Given the description of an element on the screen output the (x, y) to click on. 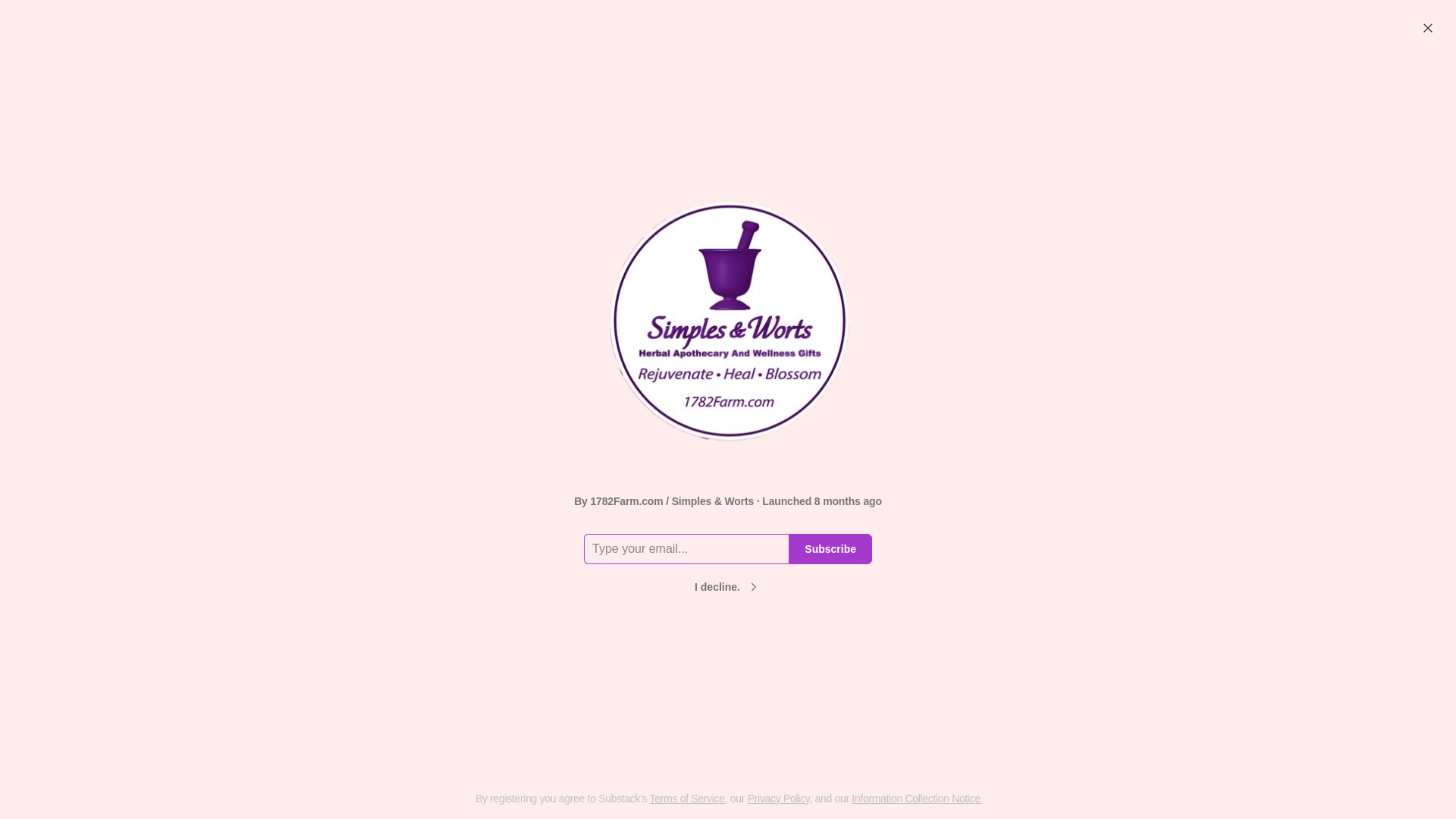
Information Collection Notice Element type: text (915, 798)
1782FARM.COM / SIMPLES & WORTS Element type: text (1115, 349)
Track #3 Element type: text (634, 73)
Subscribe Element type: text (1327, 27)
What Other Side Topics Would You Like to Learn About? Element type: text (353, 306)
Getting a Look at a Working Herb Farm Element type: text (1090, 293)
Sign in Element type: text (1410, 27)
1782FARM.COM / SIMPLES & WORTS Element type: text (378, 621)
1782FARM.COM / SIMPLES & WORTS Element type: text (1057, 752)
About Element type: text (1084, 73)
Track #1 Element type: text (518, 73)
Episode #1 About Our Channel Element type: text (1090, 575)
1782FARM.COM / SIMPLES & WORTS Element type: text (311, 752)
Farm Topic Poll Element type: text (353, 575)
VIEW ALL Element type: text (1188, 694)
Leaderboard Element type: text (1022, 73)
Farm Topic Poll Element type: text (817, 724)
Join Our Chat Element type: text (1066, 724)
Subscribe Element type: text (830, 548)
Track #2 Element type: text (576, 73)
Home Element type: text (371, 73)
Privacy Policy Element type: text (778, 798)
Getting a Look at a Working Herb Farm Element type: text (569, 732)
I decline. Element type: text (727, 583)
1782FARM.COM / SIMPLES & WORTS Element type: text (561, 767)
Listen now (15 mins) | Meet Phil Wilson Element type: text (1090, 600)
Terms of Service Element type: text (686, 798)
I decline. Element type: text (727, 586)
How to Scratch Your Herbal Lifestyle Itch! Element type: text (721, 535)
The Global Sherpa Network Element type: text (910, 73)
Living an Herbal Lifestyle With You! Element type: text (722, 504)
Track #4 Element type: text (692, 73)
Track #6 Element type: text (809, 73)
What topic is of most interest? Element type: text (353, 600)
Track #5 Element type: text (750, 73)
Ancillary Farm Topic Poll Element type: text (353, 282)
From the 1780's Colonial New England Era Element type: text (1090, 327)
Ancillary Farm Topic Poll Element type: text (319, 724)
Notes Element type: text (418, 73)
1782FARM.COM / SIMPLES & WORTS Element type: text (1094, 621)
1782FARM.COM / SIMPLES & WORTS Element type: text (809, 752)
Topics Element type: text (465, 73)
1782FARM.COM / SIMPLES & WORTS Element type: text (378, 327)
1782FARM.COM / SIMPLES & WORTS Element type: text (750, 563)
